Given the description of an element on the screen output the (x, y) to click on. 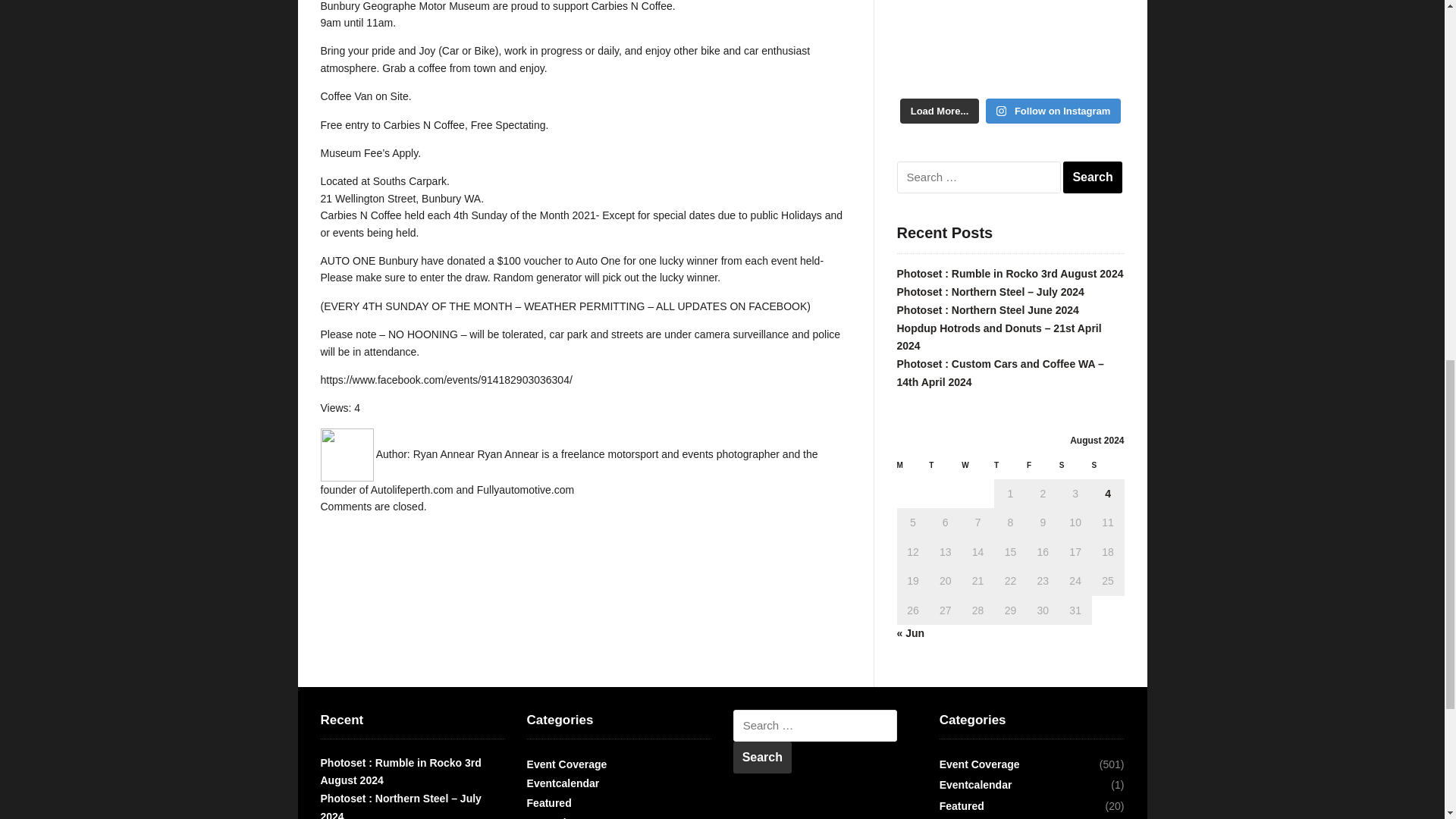
Posts by Ryan Annear (443, 453)
Search (762, 757)
Monday (912, 469)
Search (1091, 177)
Friday (1042, 469)
Thursday (1010, 469)
Saturday (1075, 469)
Wednesday (977, 469)
Ryan Annear (443, 453)
Search (1091, 177)
